Given the description of an element on the screen output the (x, y) to click on. 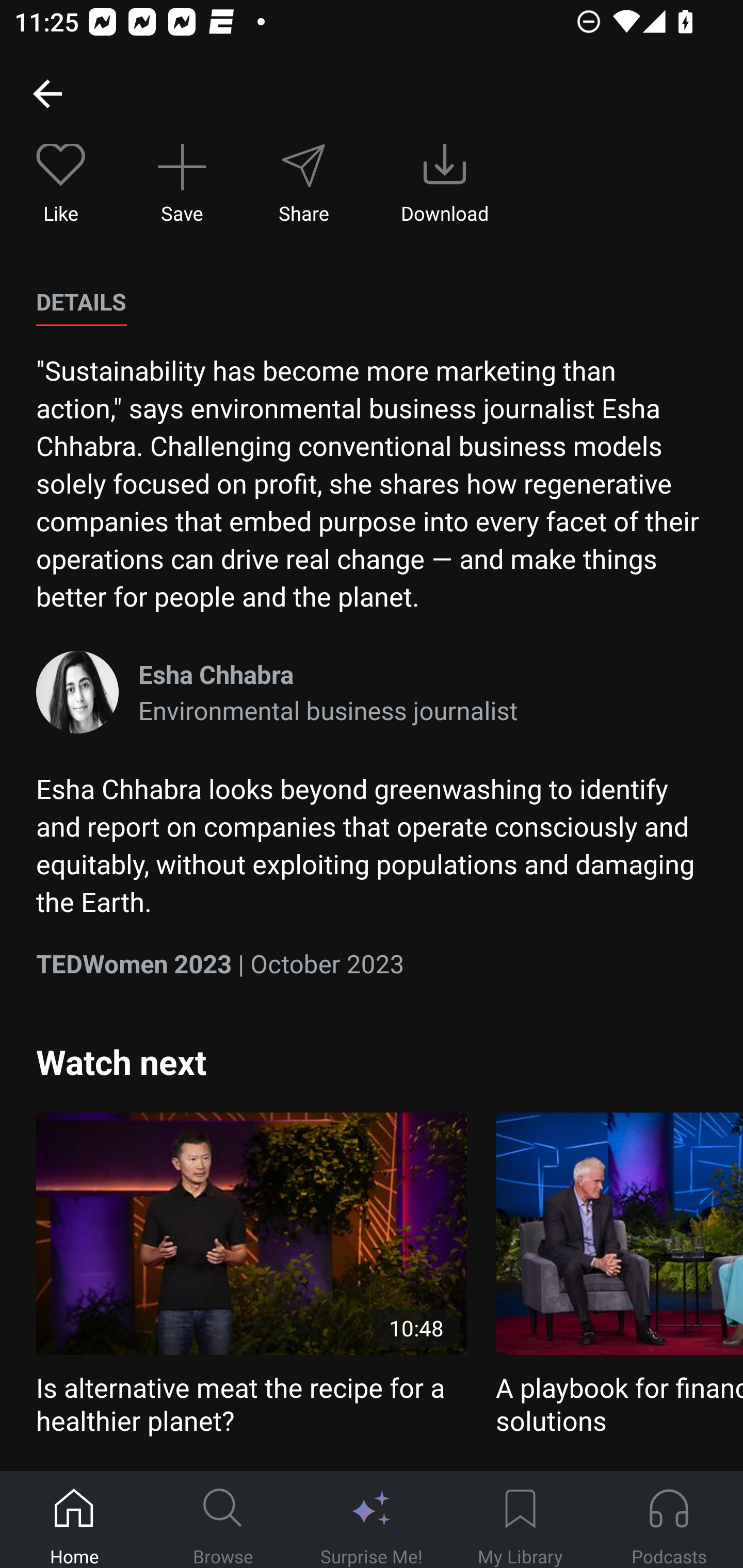
Home, back (47, 92)
Like (60, 184)
Save (181, 184)
Share (302, 184)
Download (444, 184)
DETAILS (80, 302)
A playbook for financing climate solutions (619, 1275)
Home (74, 1520)
Browse (222, 1520)
Surprise Me! (371, 1520)
My Library (519, 1520)
Podcasts (668, 1520)
